Given the description of an element on the screen output the (x, y) to click on. 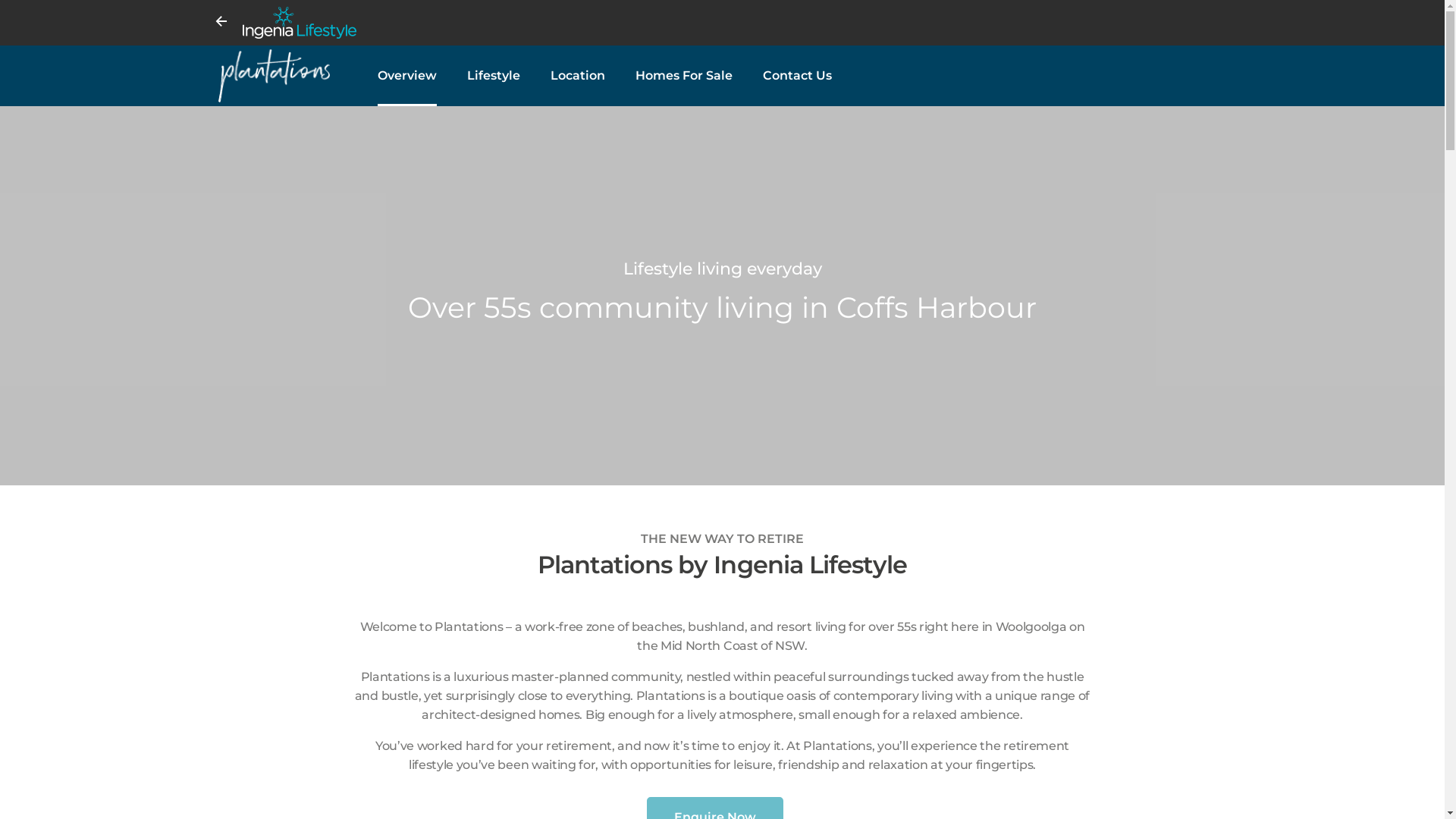
Overview Element type: text (406, 75)
Lifestyle Element type: text (493, 75)
Location Element type: text (577, 75)
Contact Us Element type: text (796, 75)
Ingenia Lifestyle Element type: hover (733, 22)
Homes For Sale Element type: text (683, 75)
